Given the description of an element on the screen output the (x, y) to click on. 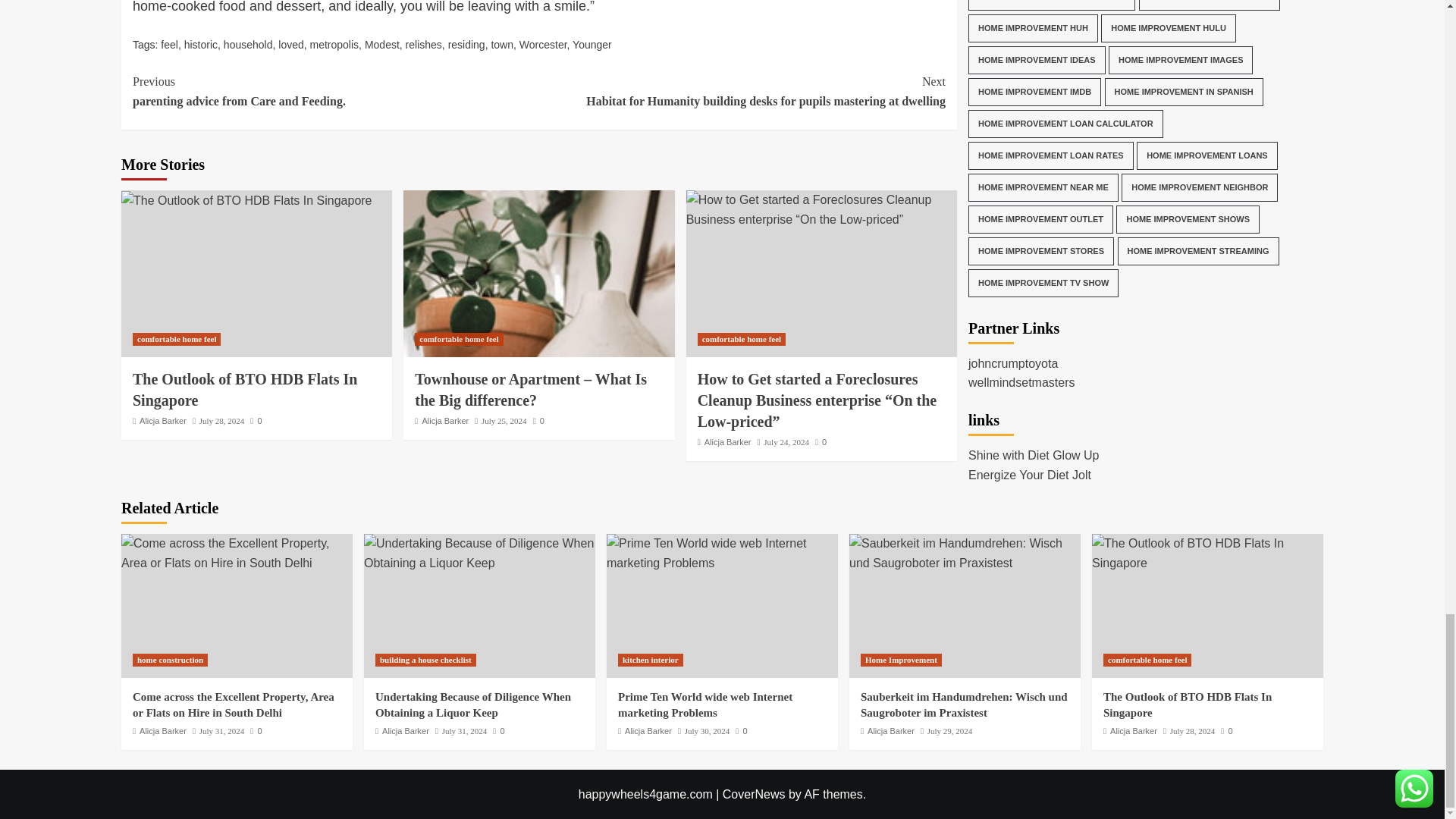
relishes (424, 44)
Younger (591, 44)
Prime Ten World wide web Internet marketing Problems (722, 552)
The Outlook of BTO HDB Flats In Singapore (244, 389)
Worcester (543, 44)
metropolis (334, 44)
The Outlook of BTO HDB Flats In Singapore (246, 200)
town (501, 44)
residing (466, 44)
Modest (381, 44)
household (248, 44)
historic (200, 44)
